Given the description of an element on the screen output the (x, y) to click on. 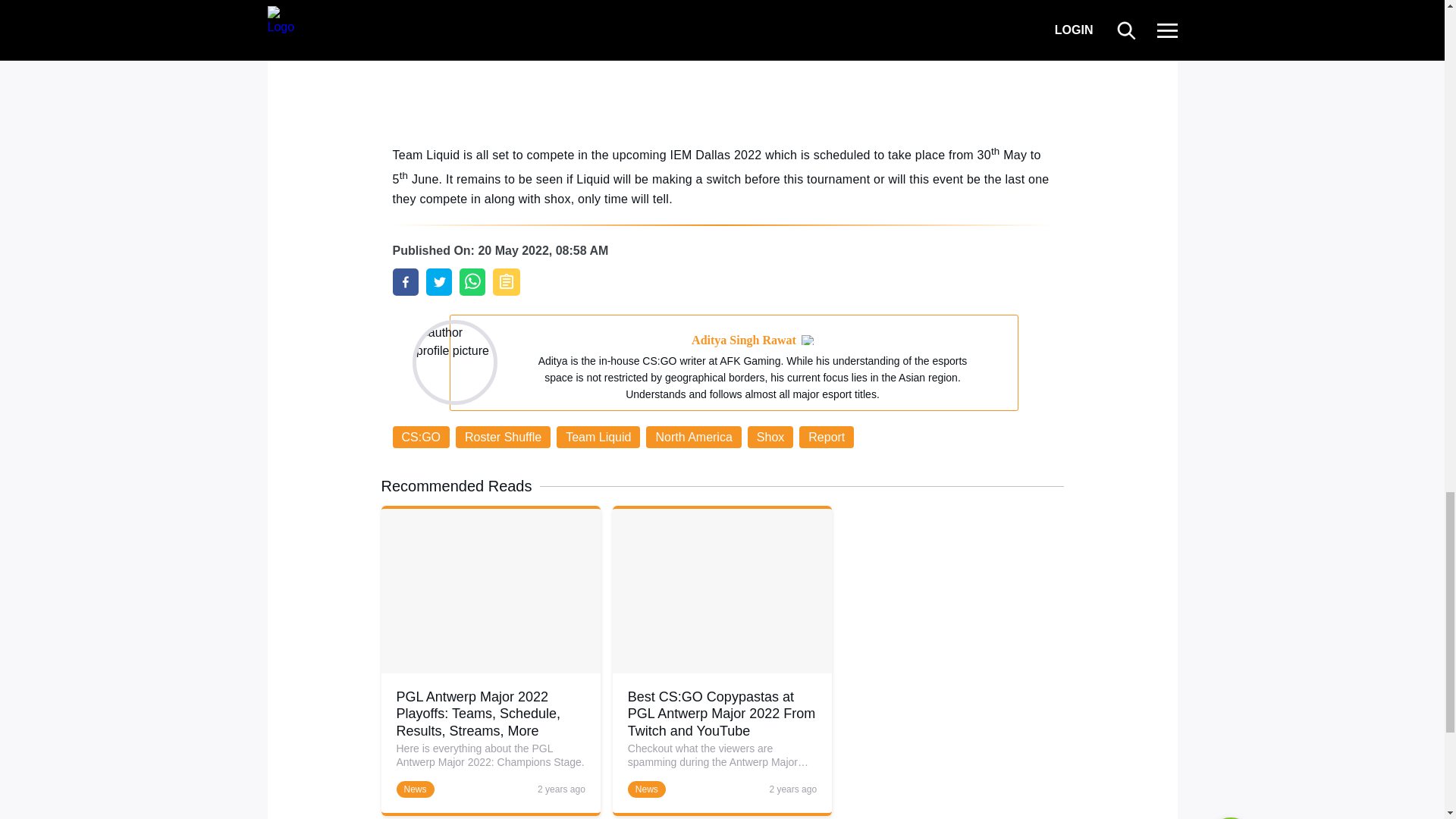
Team Liquid (598, 436)
CS:GO (421, 436)
North America (693, 436)
Aditya Singh Rawat (743, 340)
Shox to Reportedly Part Ways With Team Liquid's CS:GO Roster (406, 281)
Report (826, 436)
Shox (770, 436)
Roster Shuffle (502, 436)
